Given the description of an element on the screen output the (x, y) to click on. 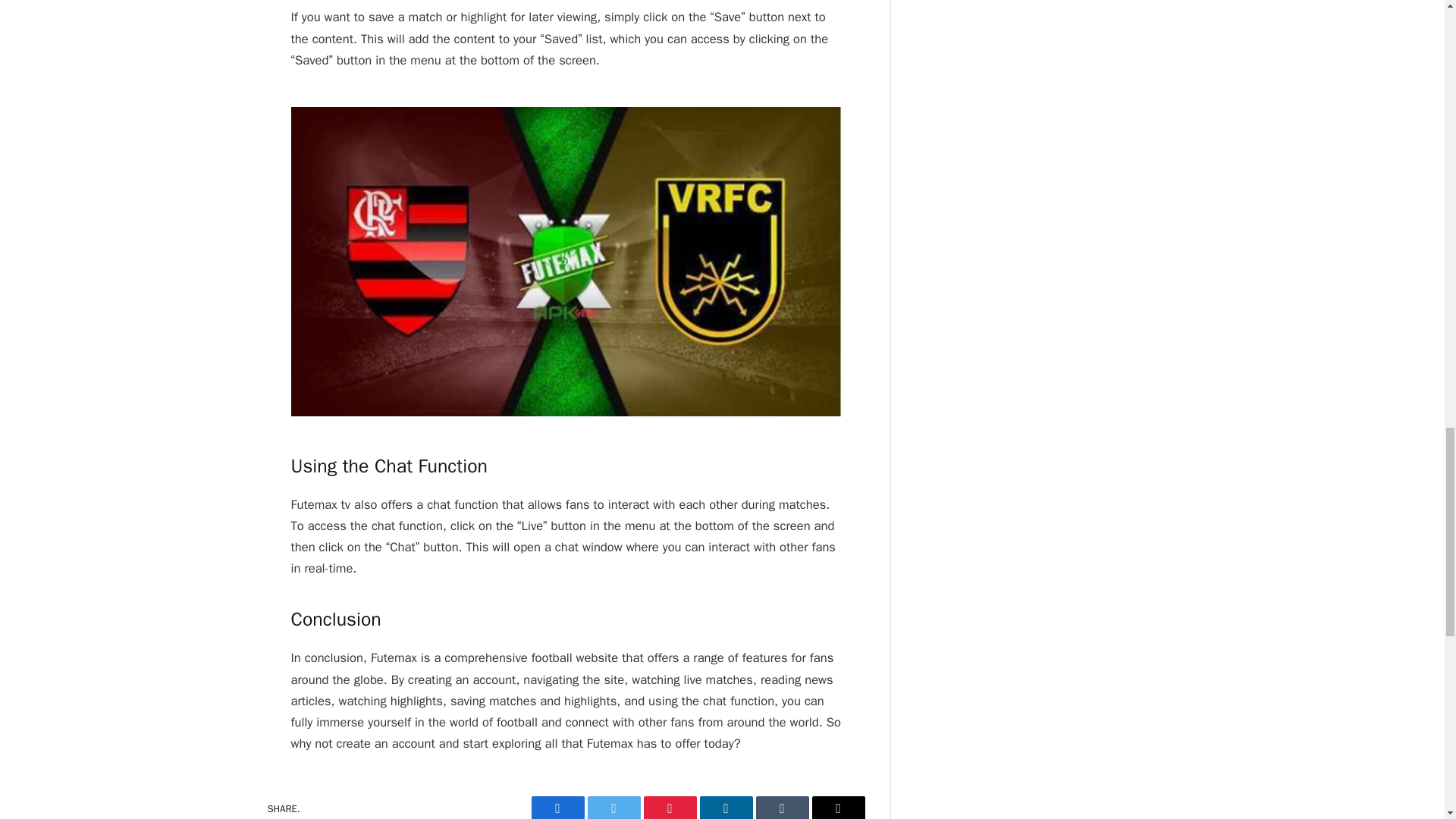
Twitter (613, 807)
Facebook (557, 807)
Pinterest (669, 807)
